Given the description of an element on the screen output the (x, y) to click on. 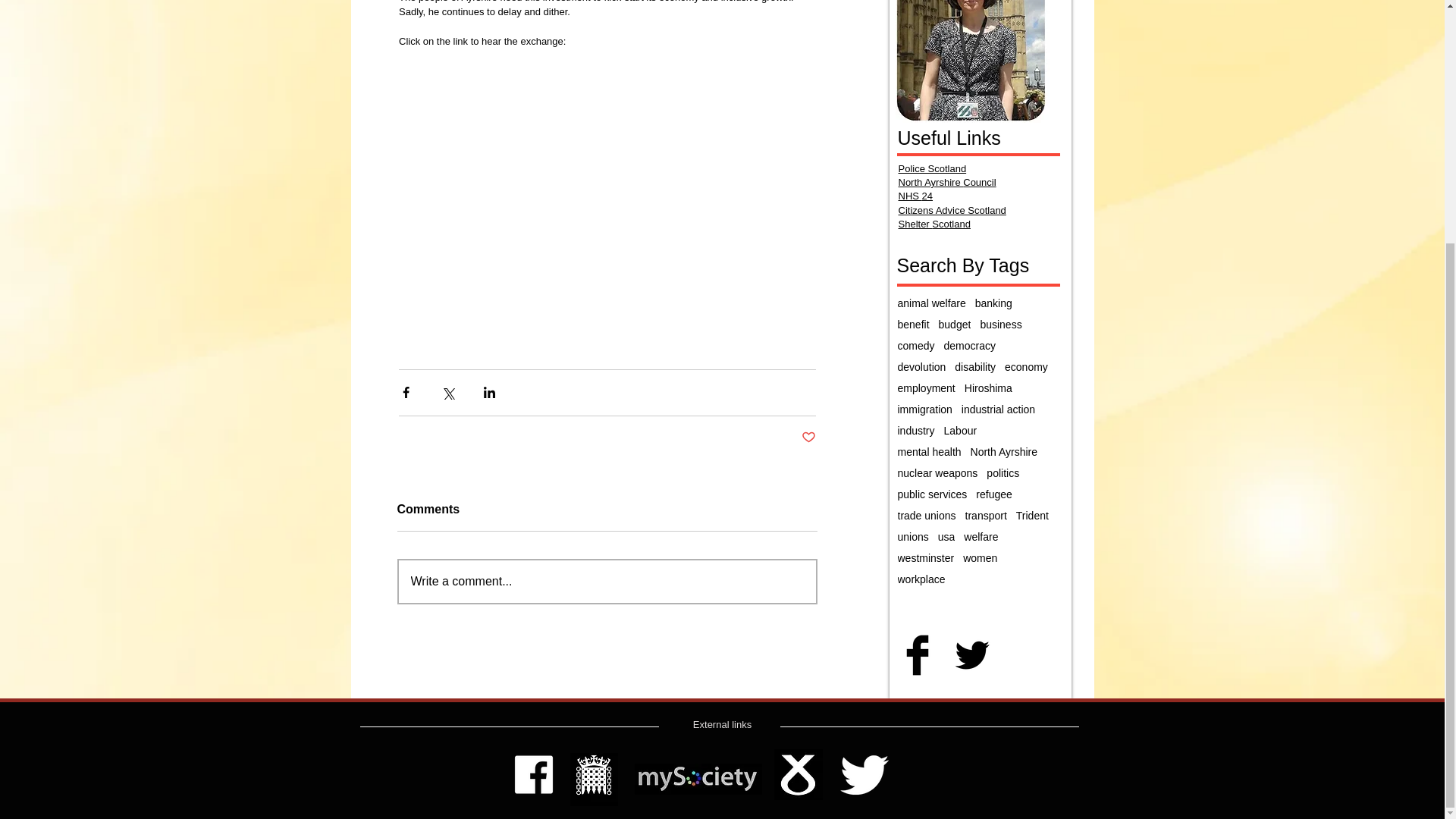
mysociety.jpg (697, 778)
industrial action (997, 409)
comedy (916, 345)
budget (955, 324)
politics (1003, 472)
twitter-xxl.png (864, 774)
Post not marked as liked (807, 437)
facebook-10241.png (533, 774)
pg.jpg (971, 61)
Write a comment... (606, 581)
Citizens Advice Scotland (952, 210)
disability (975, 367)
SNP bw.jpg (797, 774)
hoc bw.jpg (593, 778)
Shelter (914, 224)
